Given the description of an element on the screen output the (x, y) to click on. 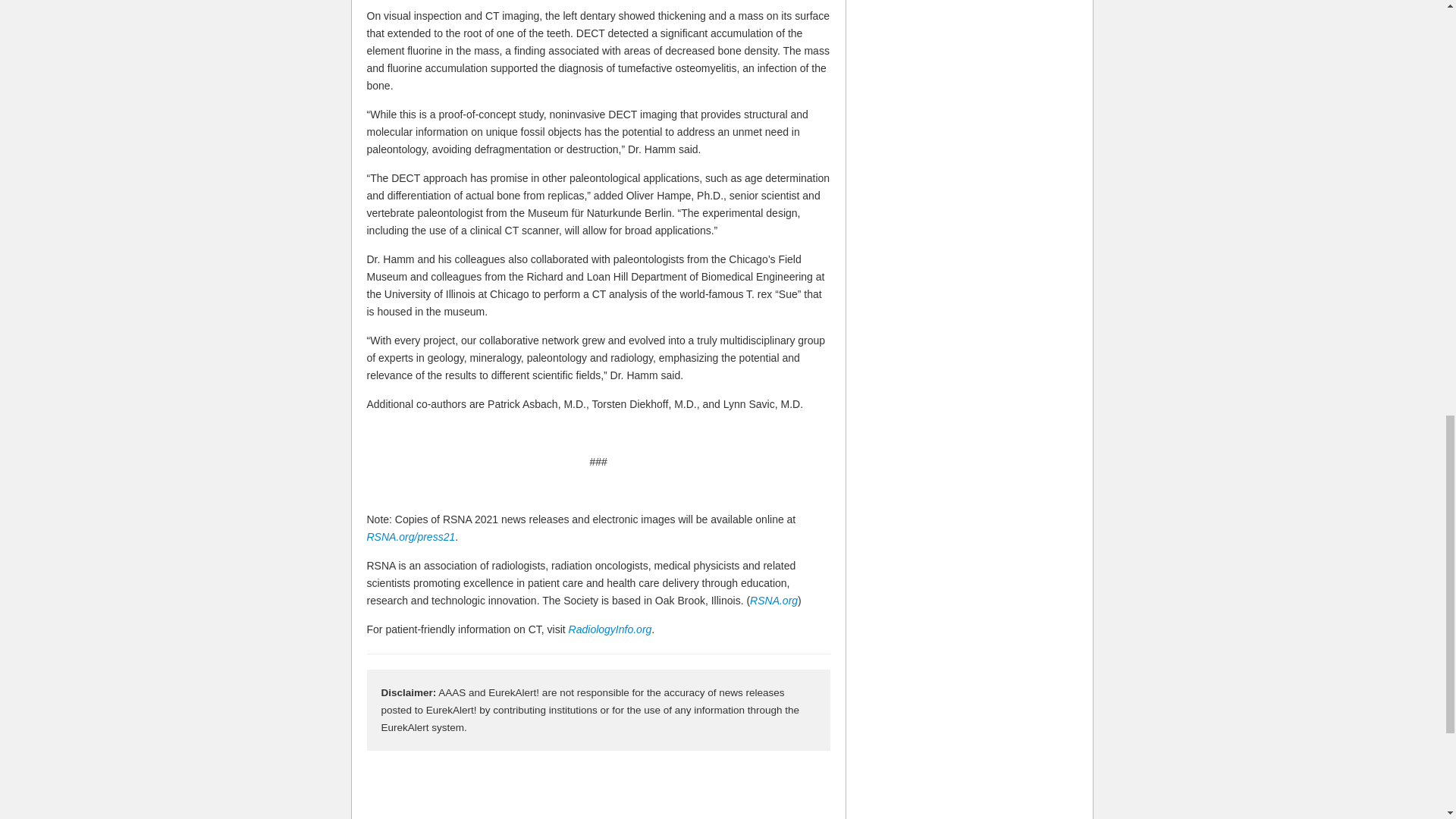
RSNA.org (773, 600)
RadiologyInfo.org (610, 629)
